Given the description of an element on the screen output the (x, y) to click on. 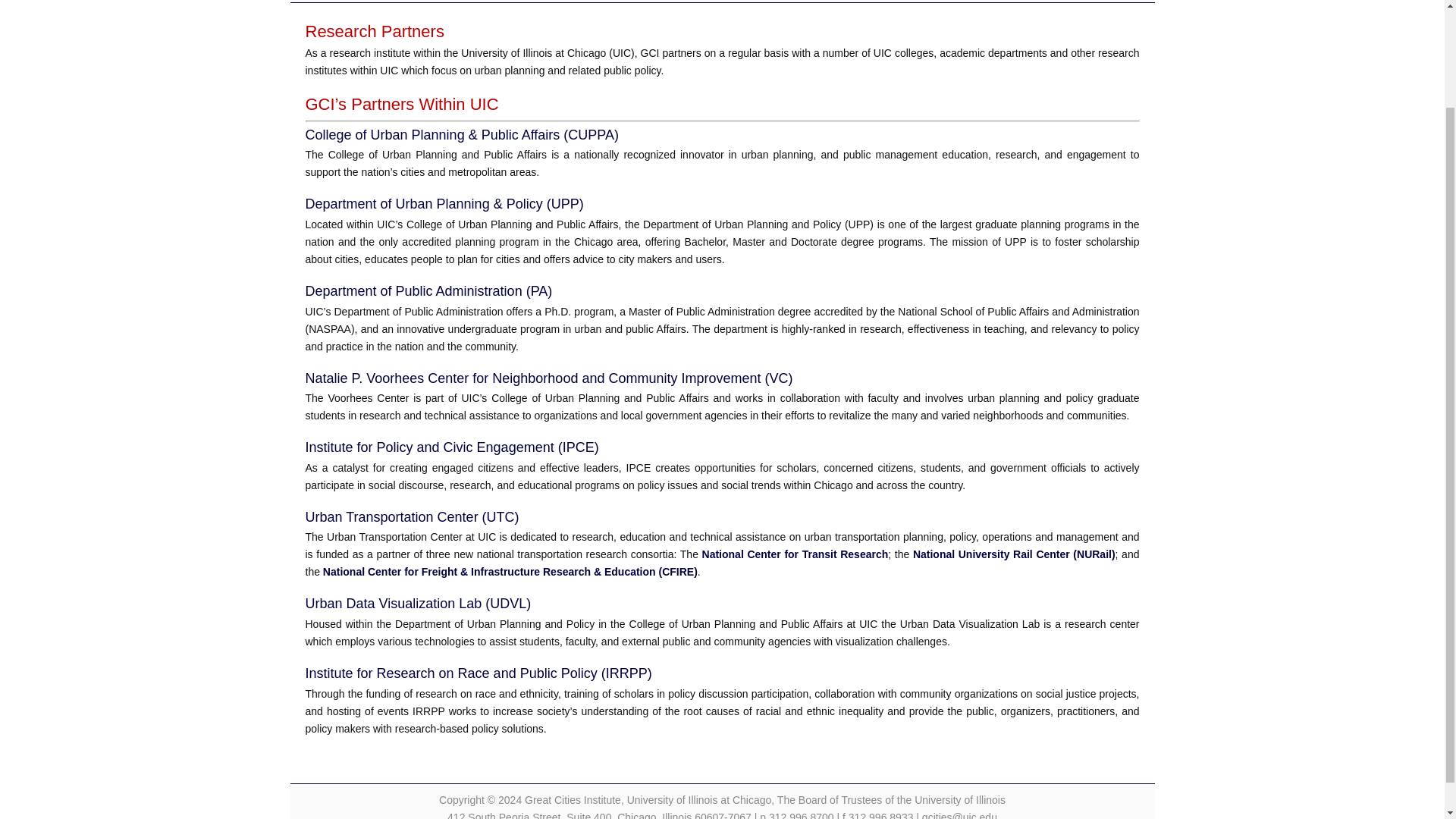
Department of Public Administration (427, 290)
Urban Data Visualization Lab (417, 603)
Urban Transportation Center (411, 516)
Home (314, 1)
Institute for Research on Race and Public Policy (477, 672)
Institute for Policy and Civic Engagement (451, 447)
